Given the description of an element on the screen output the (x, y) to click on. 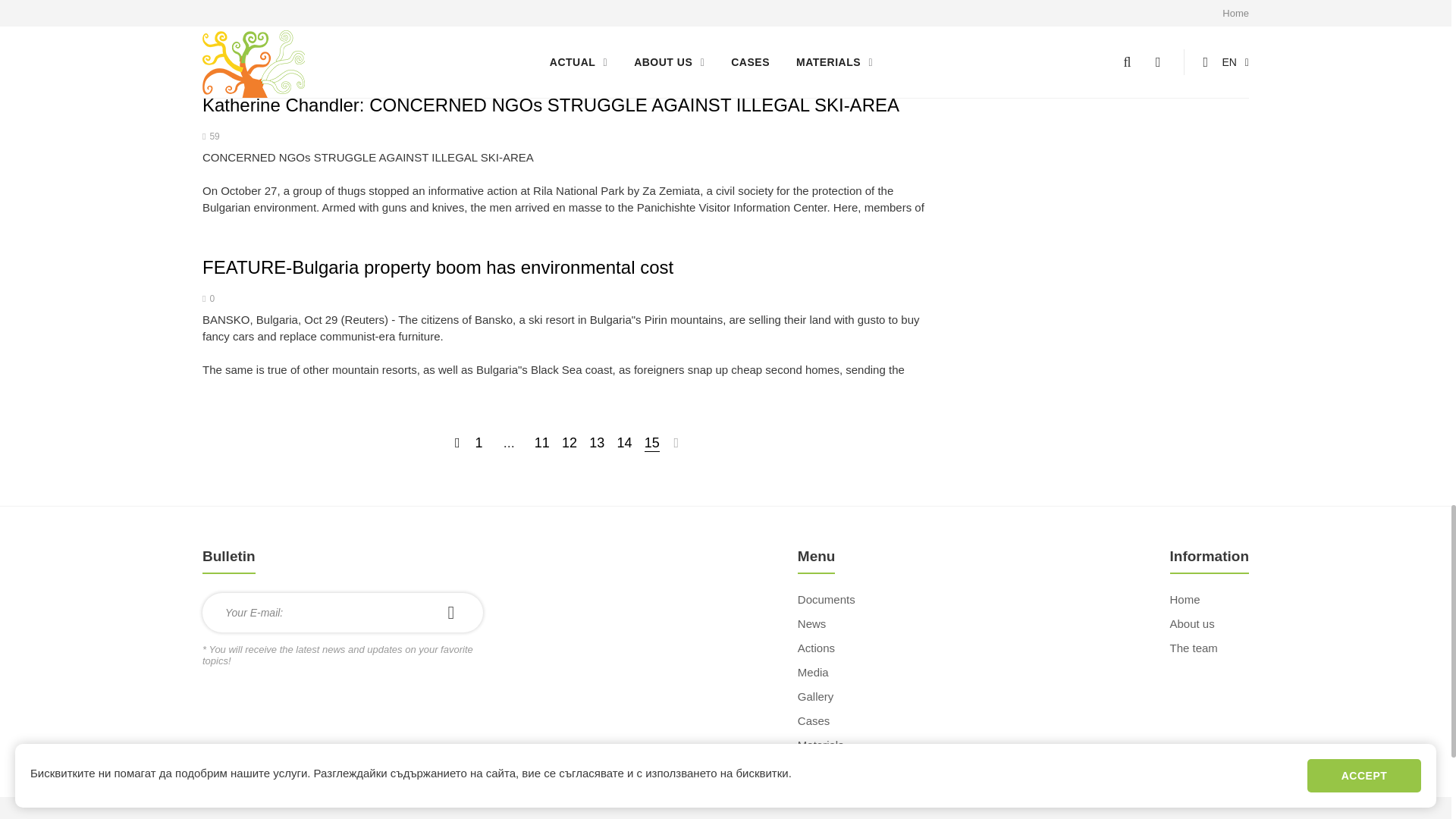
11 (542, 443)
FEATURE-Bulgaria property boom has environmental cost (437, 267)
13 (596, 443)
12 (569, 443)
